Given the description of an element on the screen output the (x, y) to click on. 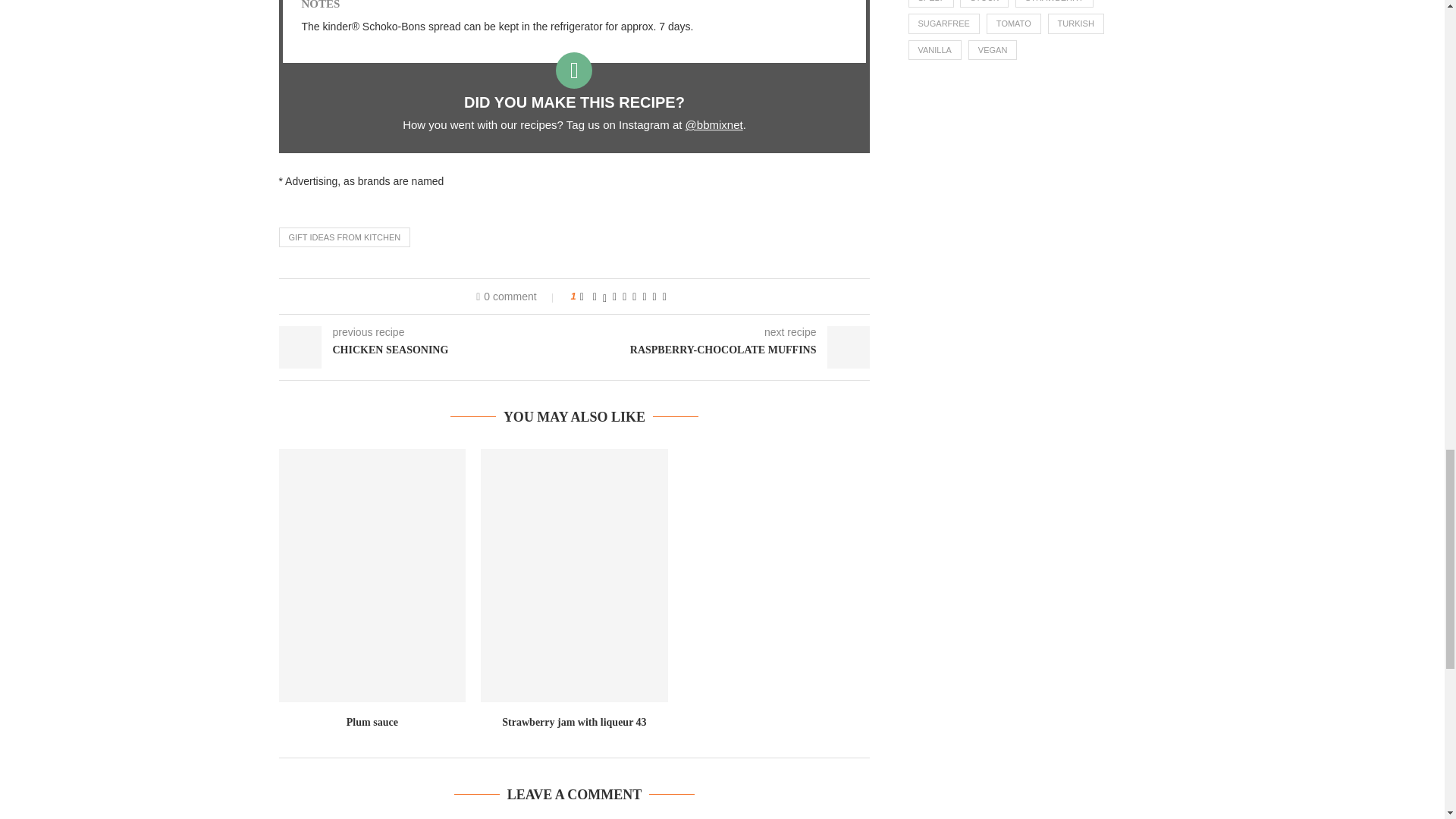
GIFT IDEAS FROM KITCHEN (344, 237)
Plum sauce (372, 574)
Strawberry jam with liqueur 43 (574, 574)
Like (581, 296)
